Given the description of an element on the screen output the (x, y) to click on. 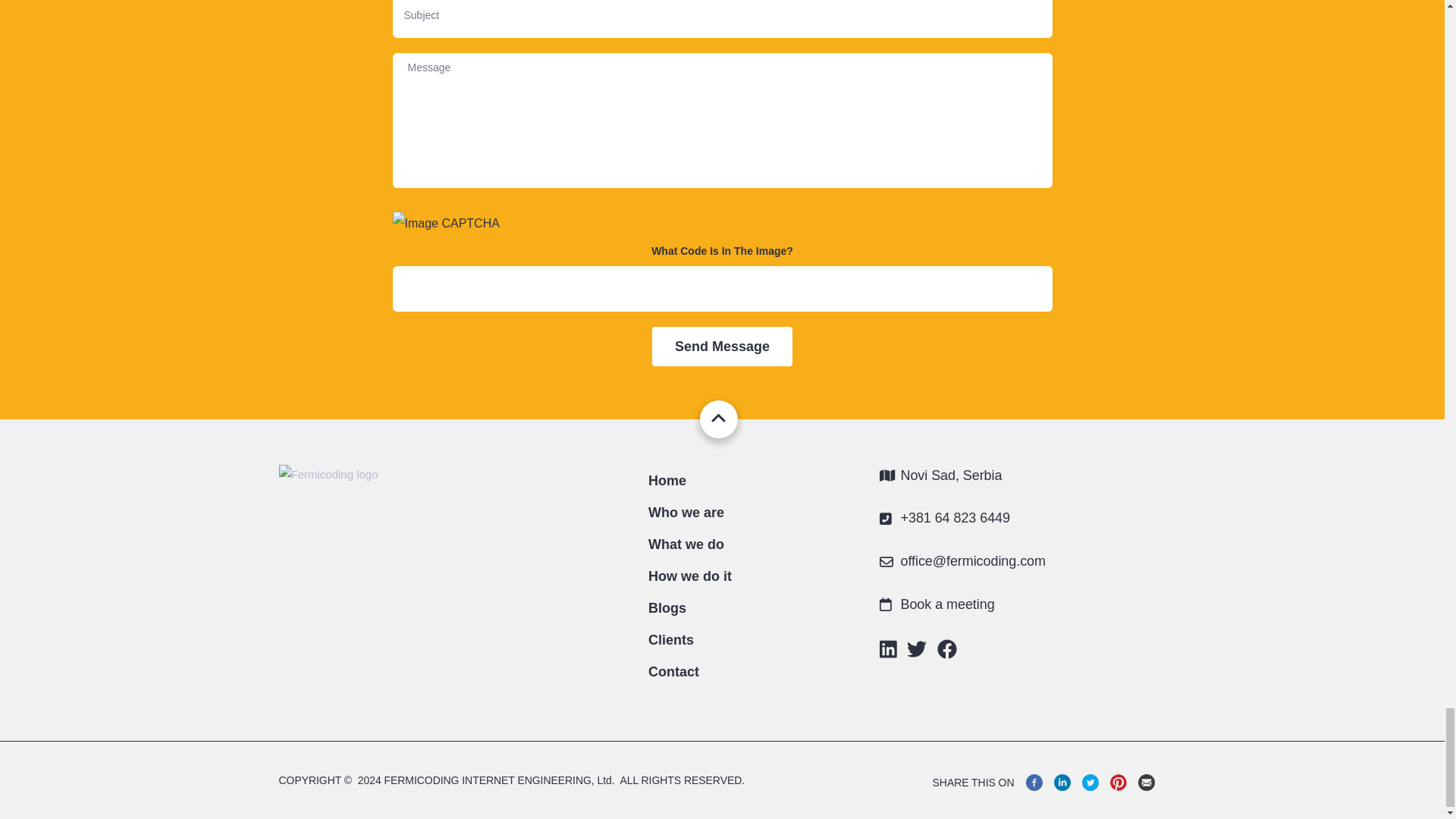
Facebook (1033, 782)
Follov us on LinkedIn (887, 652)
Follow us on Twitter (916, 652)
Send Message (722, 346)
Twitter (1089, 782)
Pinterest (1117, 782)
Linkedin (1062, 782)
Image CAPTCHA (722, 223)
Email (1145, 782)
Follow us on Facebook (946, 652)
